Given the description of an element on the screen output the (x, y) to click on. 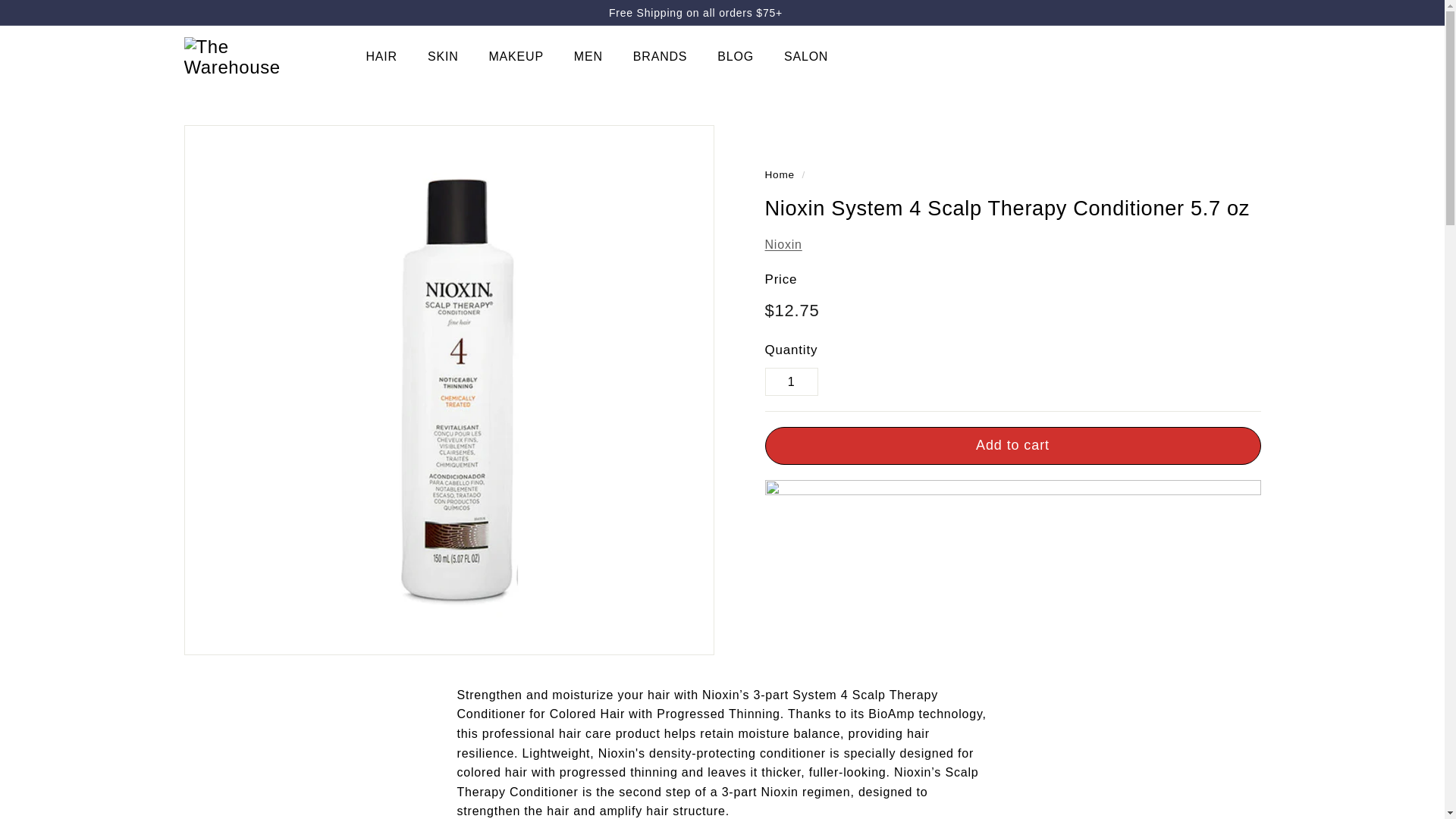
The Warehouse Salon on Facebook (1218, 12)
The Warehouse Salon on TikTok (1248, 12)
TikTok (1248, 12)
Facebook (1218, 12)
The Warehouse Salon on YouTube (1256, 12)
Instagram (1240, 12)
Pinterest (1233, 12)
The Warehouse Salon on Pinterest (1233, 12)
1 (790, 381)
SKIN (443, 56)
X (1226, 12)
The Warehouse Salon on Instagram (1240, 12)
The Warehouse Salon on X (1226, 12)
YouTube (1256, 12)
